Given the description of an element on the screen output the (x, y) to click on. 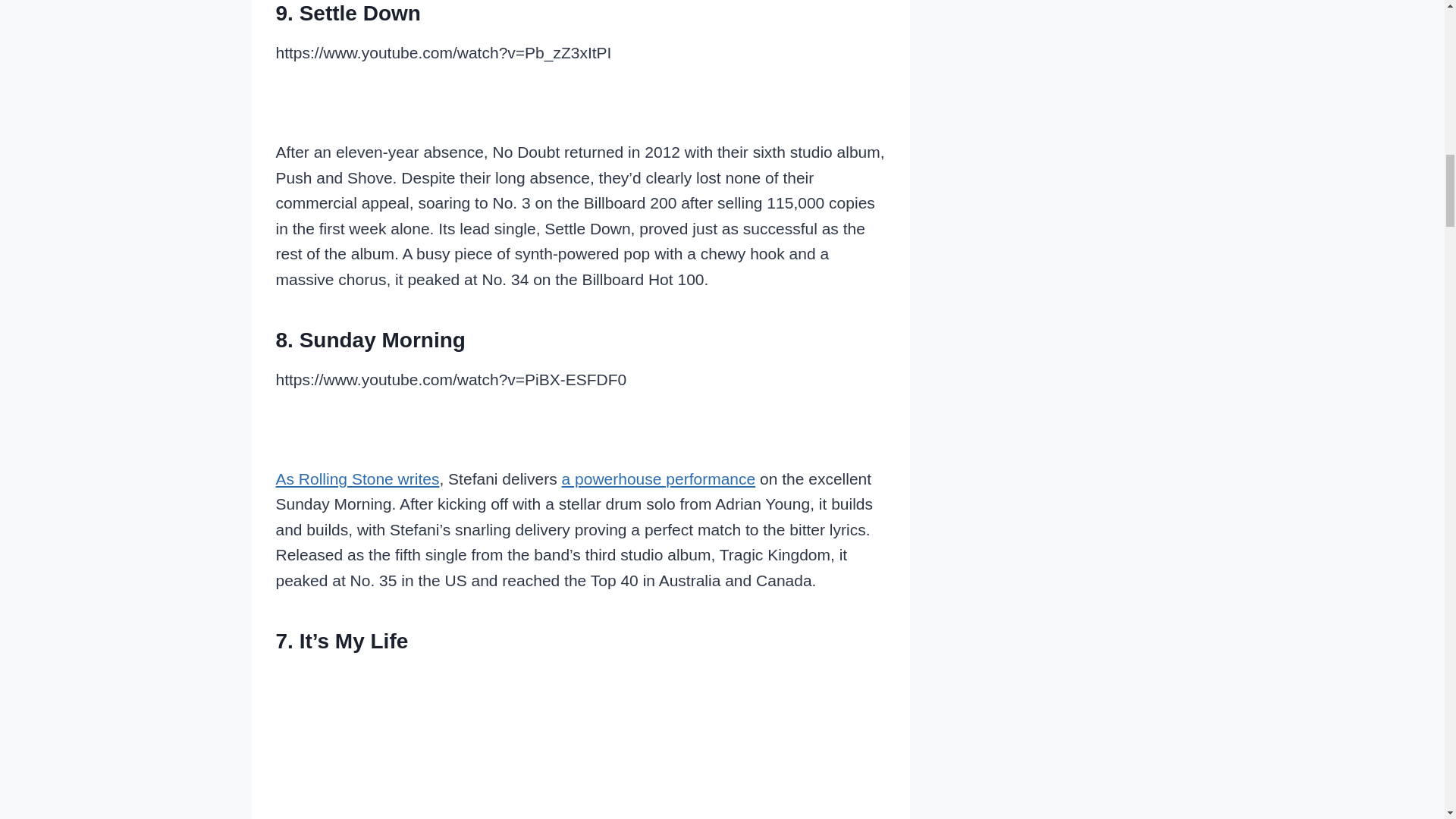
a powerhouse performance (658, 478)
As Rolling Stone writes (357, 478)
